Given the description of an element on the screen output the (x, y) to click on. 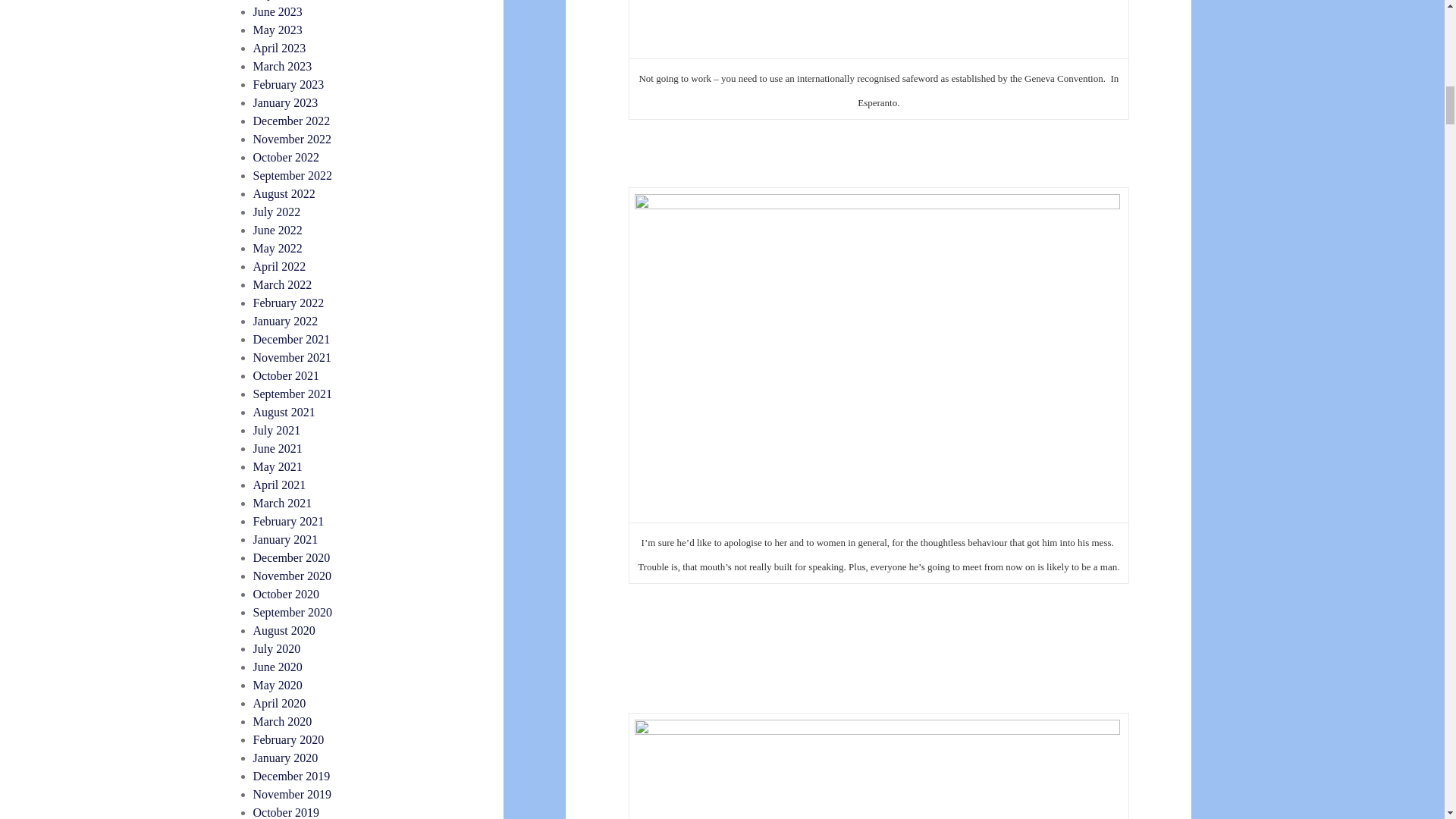
April 2023 (279, 47)
May 2022 (277, 247)
November 2022 (292, 138)
December 2022 (291, 120)
March 2023 (283, 65)
October 2022 (286, 156)
June 2023 (277, 11)
May 2023 (277, 29)
February 2023 (288, 83)
June 2022 (277, 229)
January 2023 (285, 102)
March 2022 (283, 284)
August 2022 (284, 193)
July 2022 (277, 211)
September 2022 (292, 174)
